Given the description of an element on the screen output the (x, y) to click on. 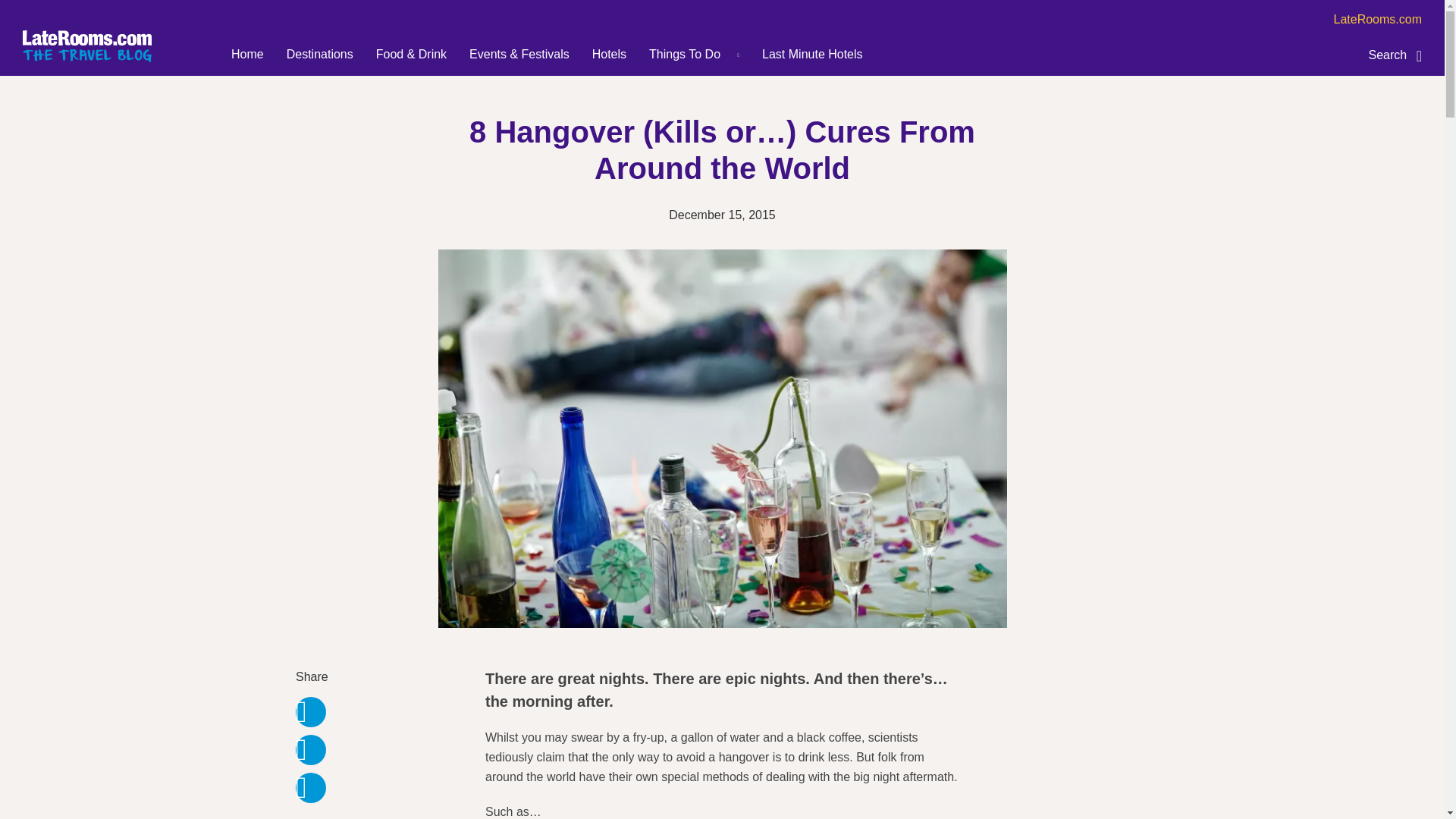
Last Minute Hotels (812, 54)
Destinations (319, 54)
Home (247, 54)
The Travel Blog by LateRooms.com (87, 46)
Things To Do (684, 54)
Hotels (609, 54)
LateRooms.com (1377, 19)
